Given the description of an element on the screen output the (x, y) to click on. 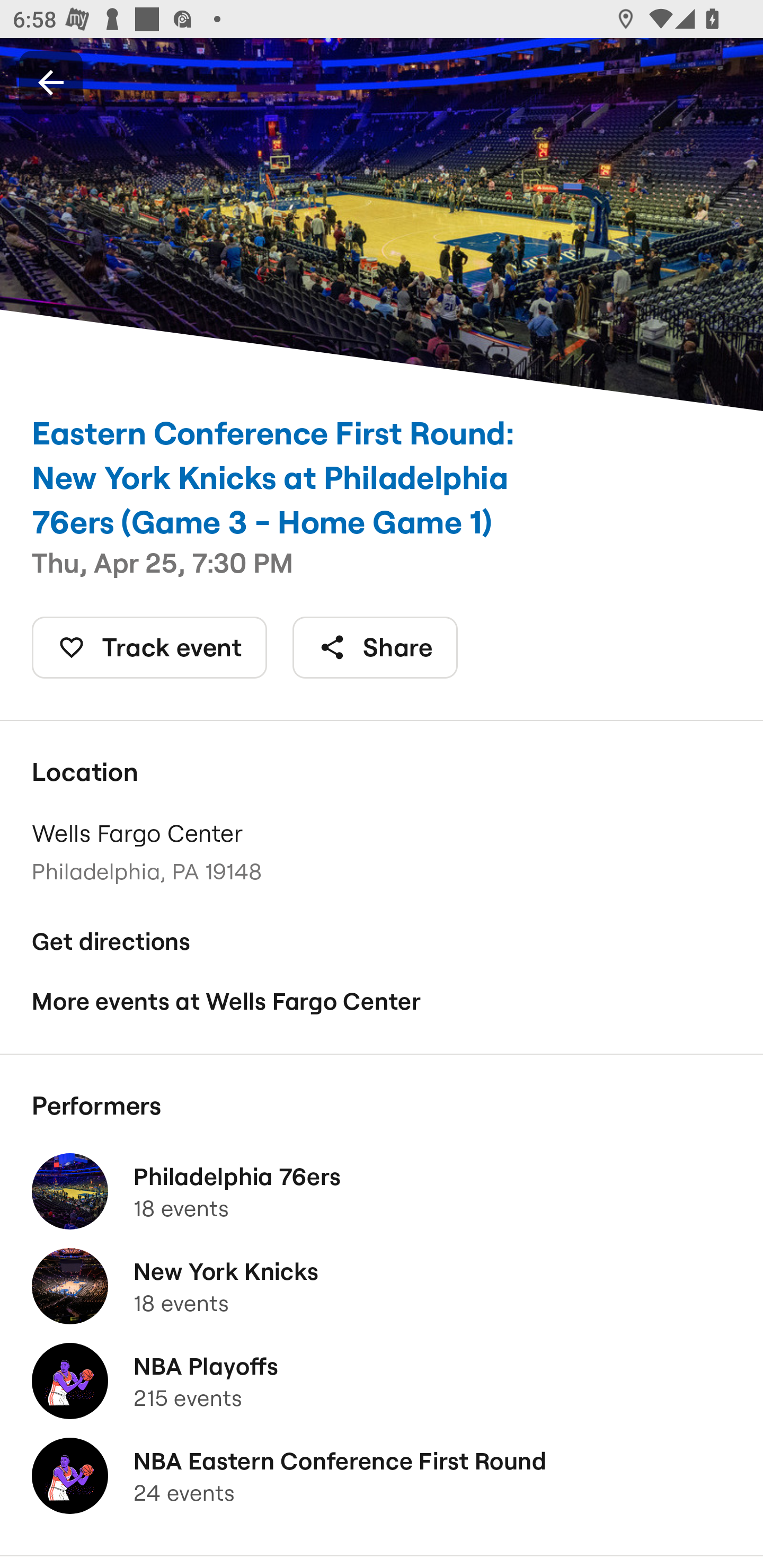
Back (50, 81)
Track event (149, 647)
Share (374, 647)
Get directions (381, 941)
More events at Wells Fargo Center (381, 1001)
Philadelphia 76ers 18 events (381, 1191)
New York Knicks 18 events (381, 1286)
NBA Playoffs 215 events (381, 1381)
NBA Eastern Conference First Round 24 events (381, 1476)
